Given the description of an element on the screen output the (x, y) to click on. 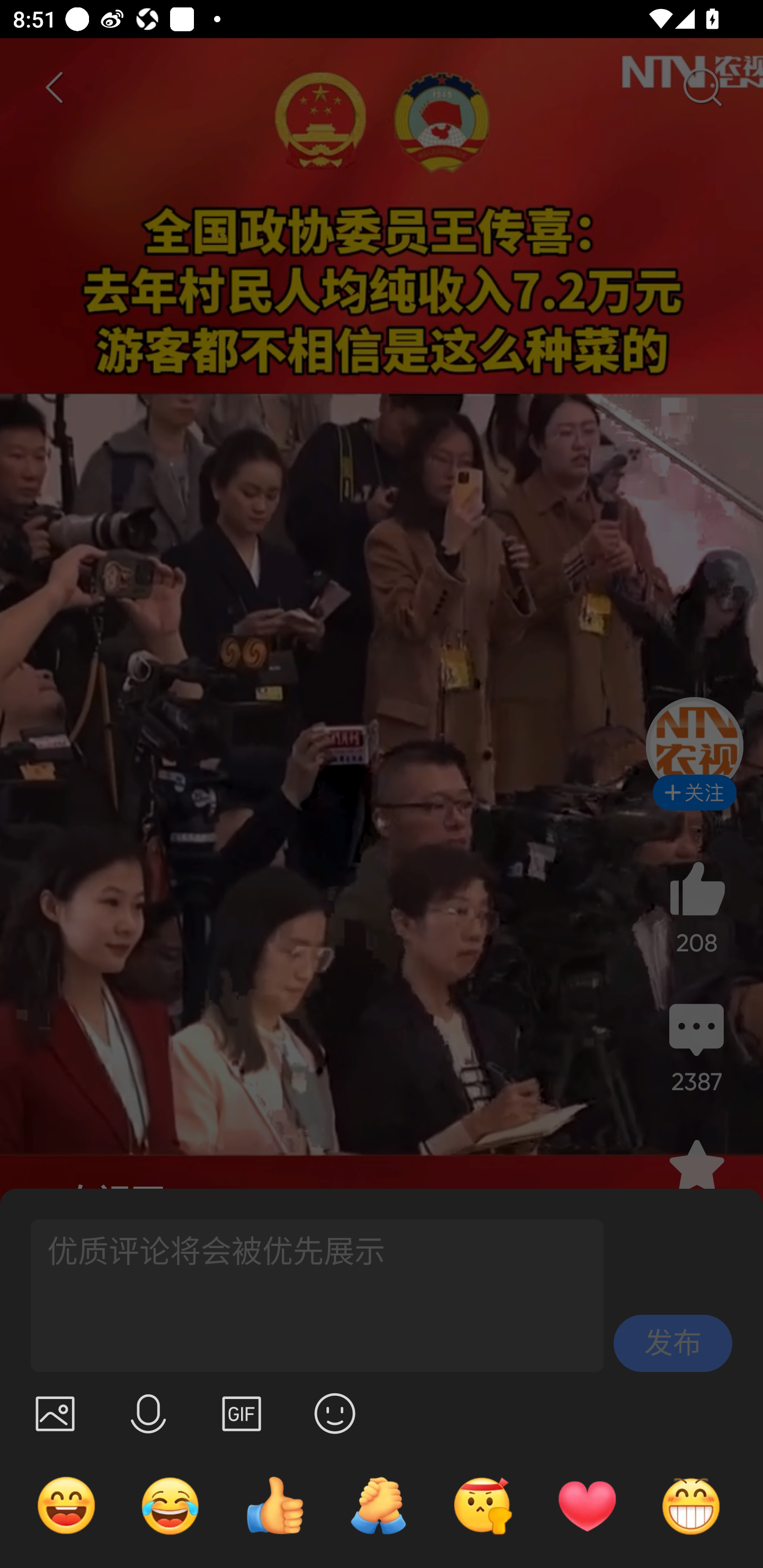
优质评论将会被优先展示 (308, 1295)
发布 (672, 1343)
 (54, 1413)
 (148, 1413)
 (241, 1413)
 (334, 1413)
哈哈 (66, 1505)
哭笑 (170, 1505)
点赞 (274, 1505)
加油 (378, 1505)
奋斗 (482, 1505)
心 (586, 1505)
呲牙 (690, 1505)
